Given the description of an element on the screen output the (x, y) to click on. 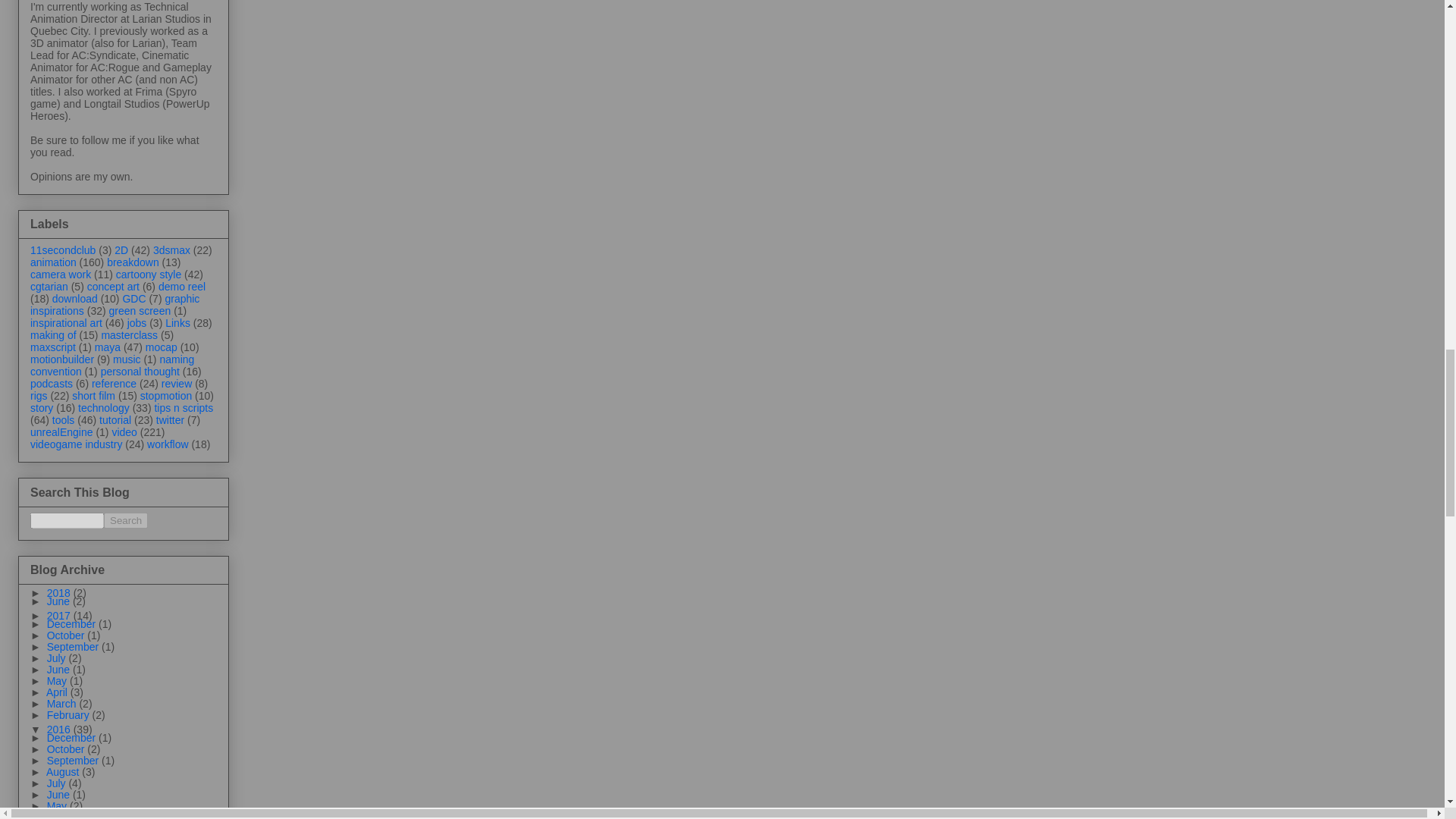
search (125, 520)
Search (125, 520)
Search (125, 520)
search (66, 520)
